Given the description of an element on the screen output the (x, y) to click on. 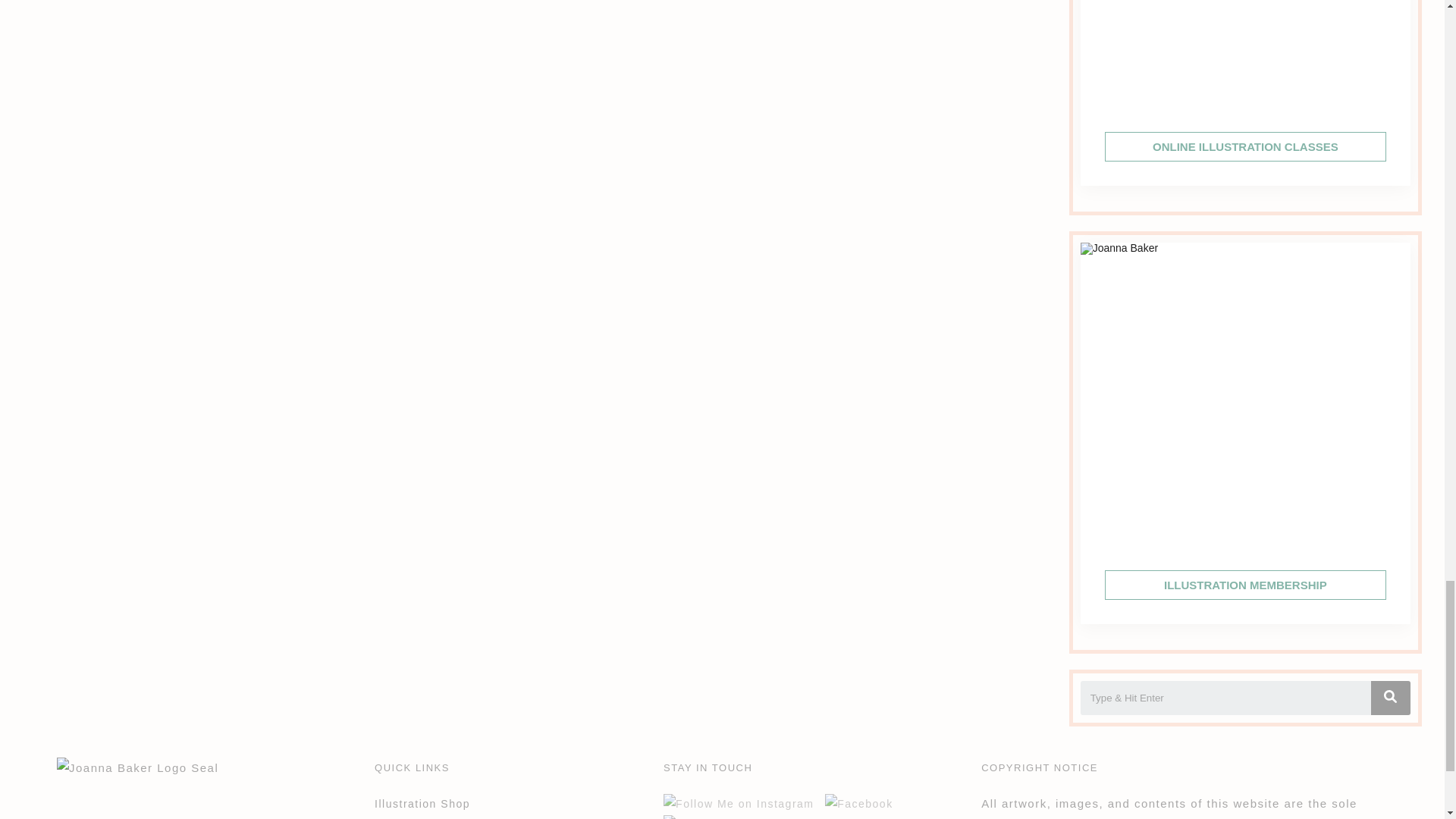
Search (1225, 697)
